Given the description of an element on the screen output the (x, y) to click on. 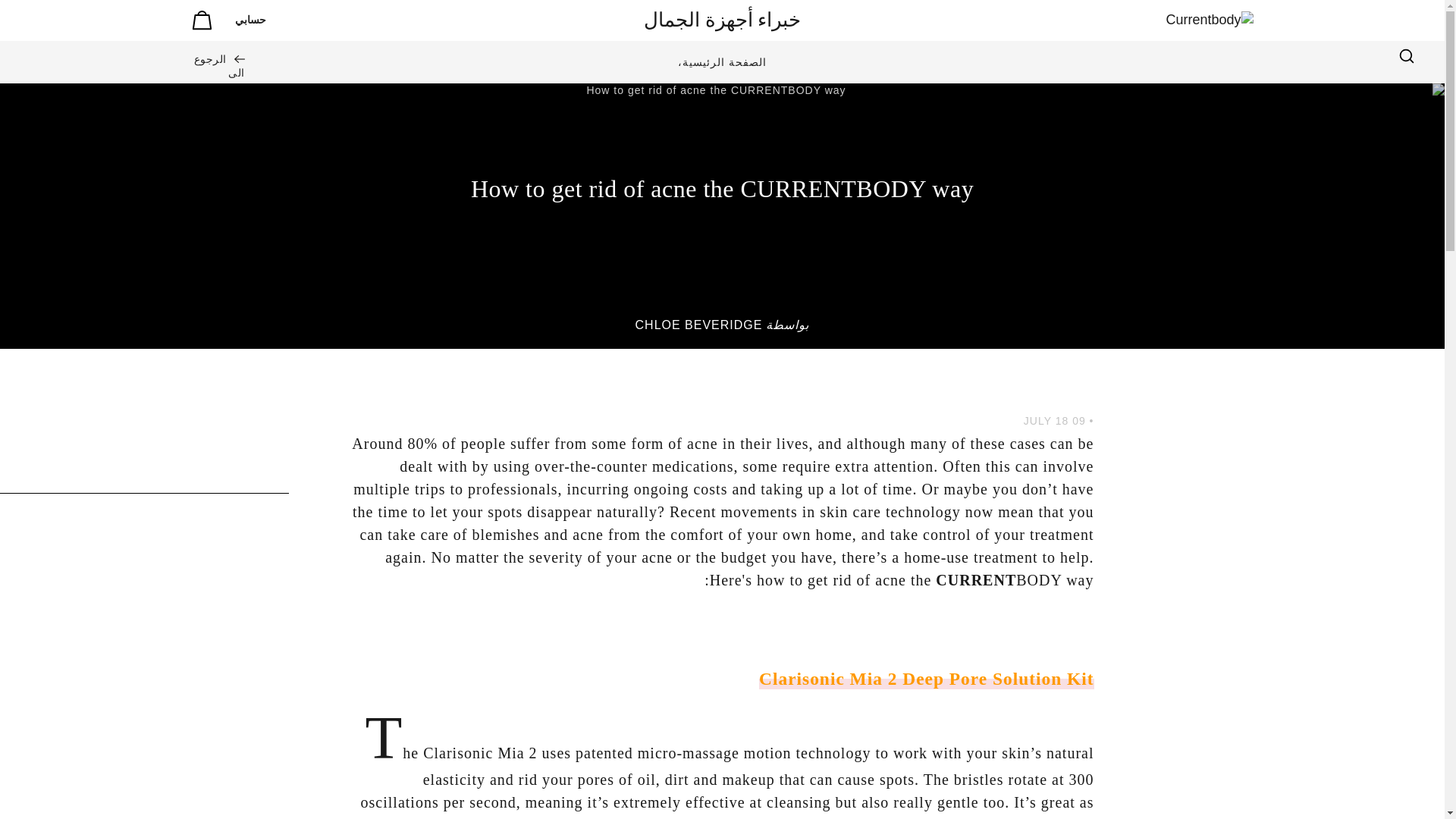
Clarisonic Mia 2 Deep Pore Solution Kit (925, 679)
